Given the description of an element on the screen output the (x, y) to click on. 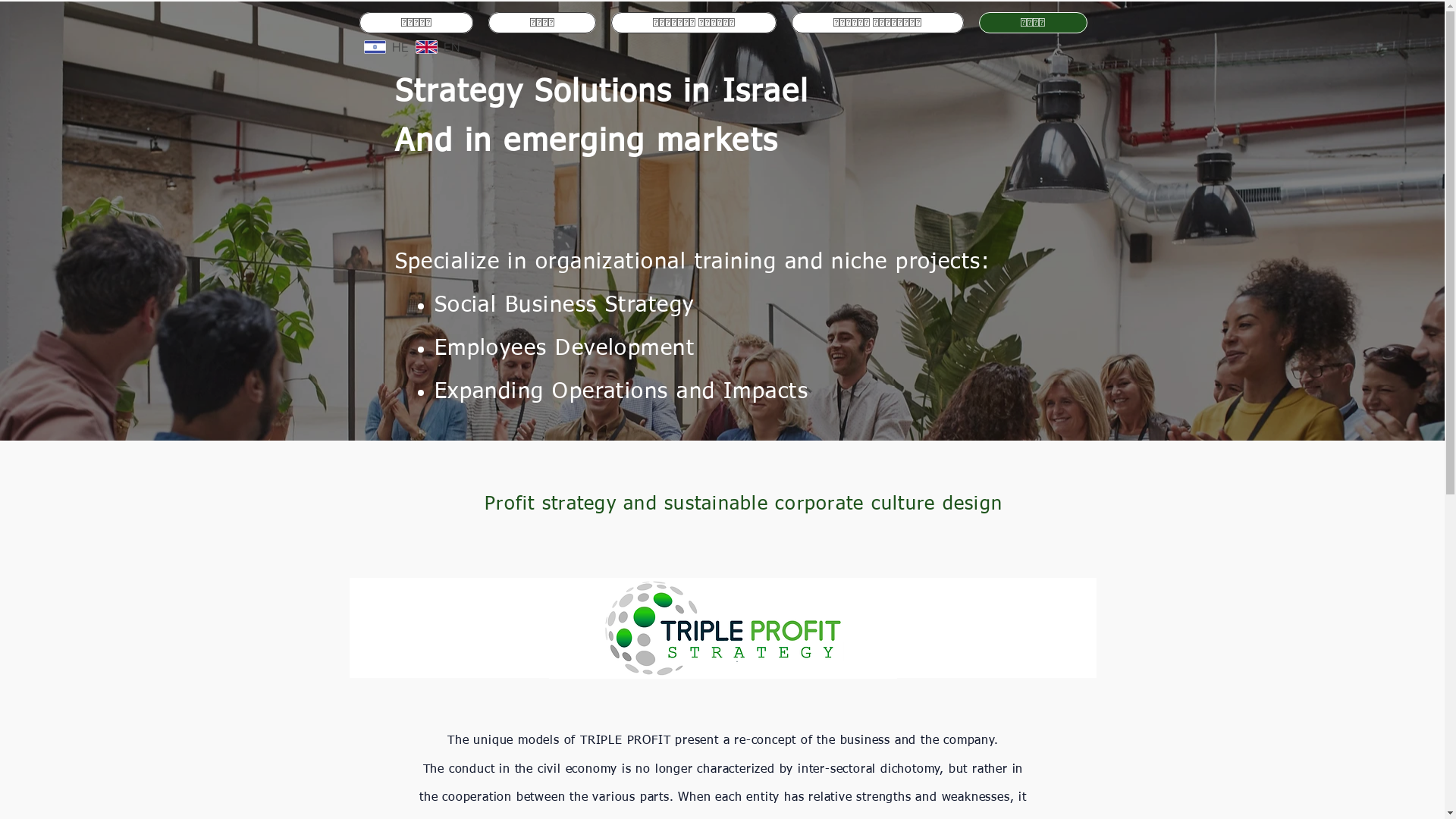
EN Element type: text (437, 46)
HE Element type: text (386, 46)
